Given the description of an element on the screen output the (x, y) to click on. 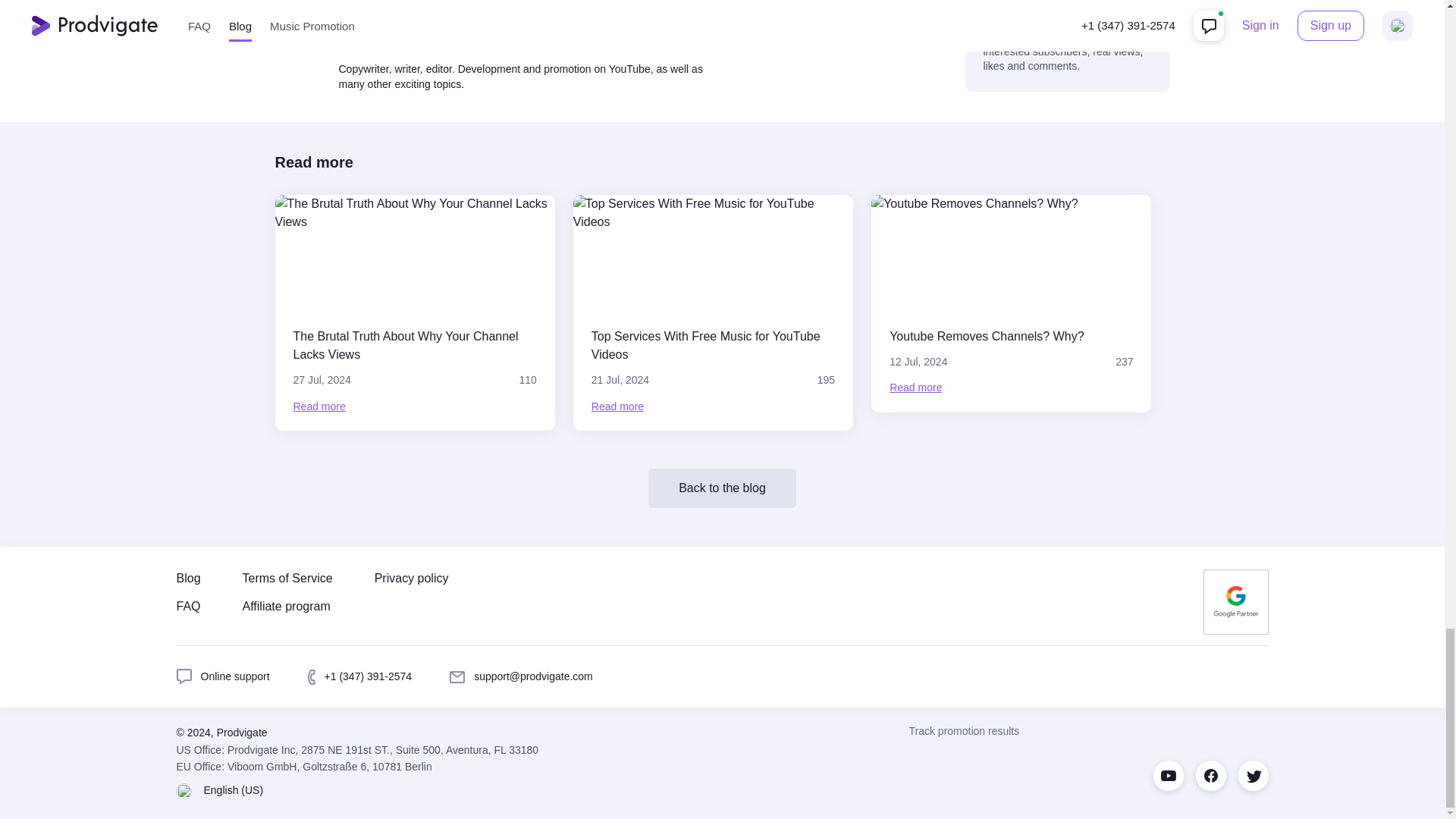
FAQ (188, 606)
Facebook (1210, 775)
Affiliate program (288, 606)
Blog (188, 578)
Terms of Service (288, 578)
Youtube channel (1167, 775)
Back to the blog (1010, 303)
Online support (721, 487)
Privacy policy (222, 676)
